Given the description of an element on the screen output the (x, y) to click on. 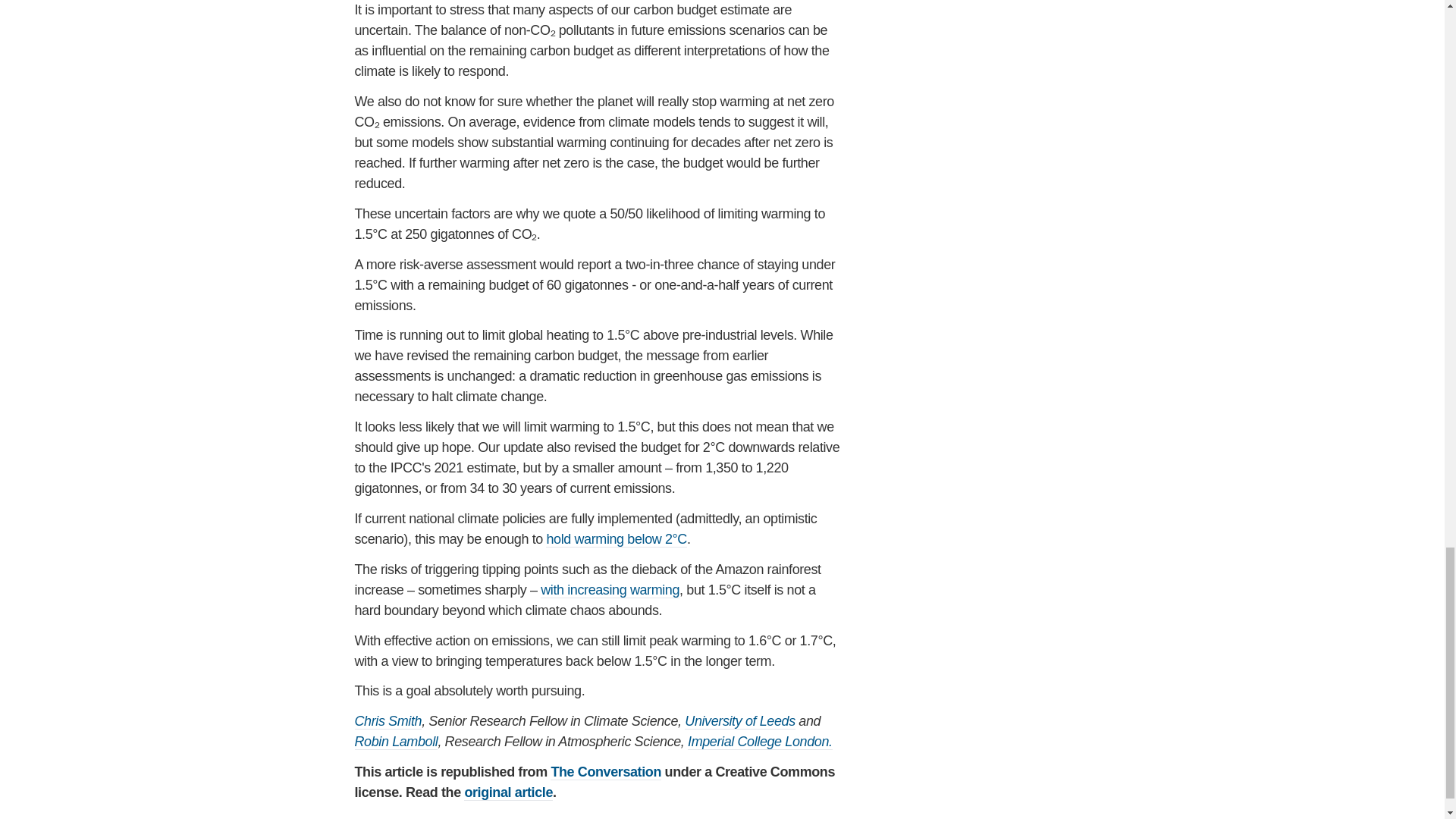
with increasing warming (609, 590)
Chris Smith (388, 721)
